Given the description of an element on the screen output the (x, y) to click on. 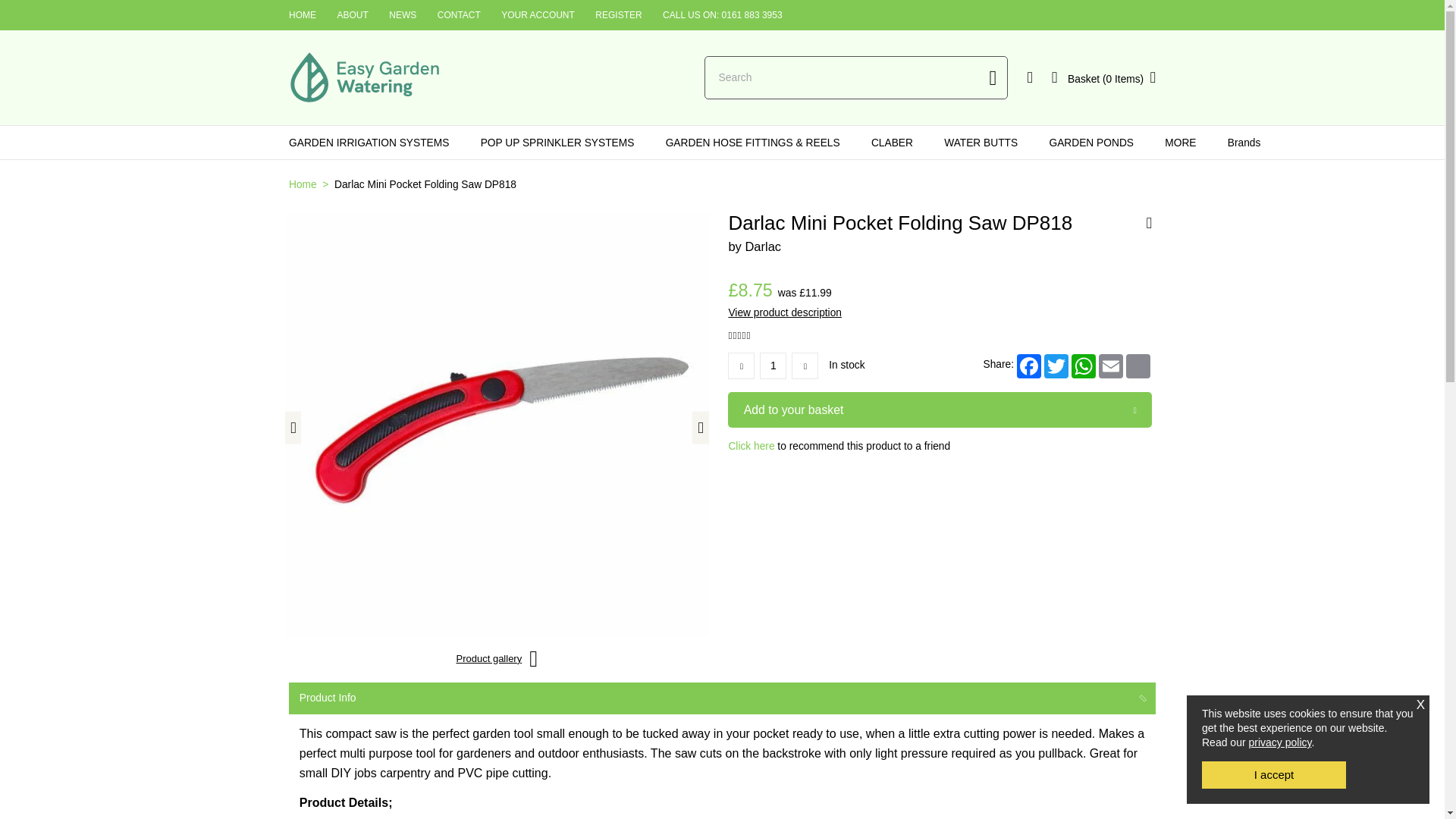
Twitter (1056, 365)
Facebook (1028, 365)
Email (1110, 365)
1 (773, 365)
WhatsApp (1083, 365)
Copy Link (1137, 365)
